Given the description of an element on the screen output the (x, y) to click on. 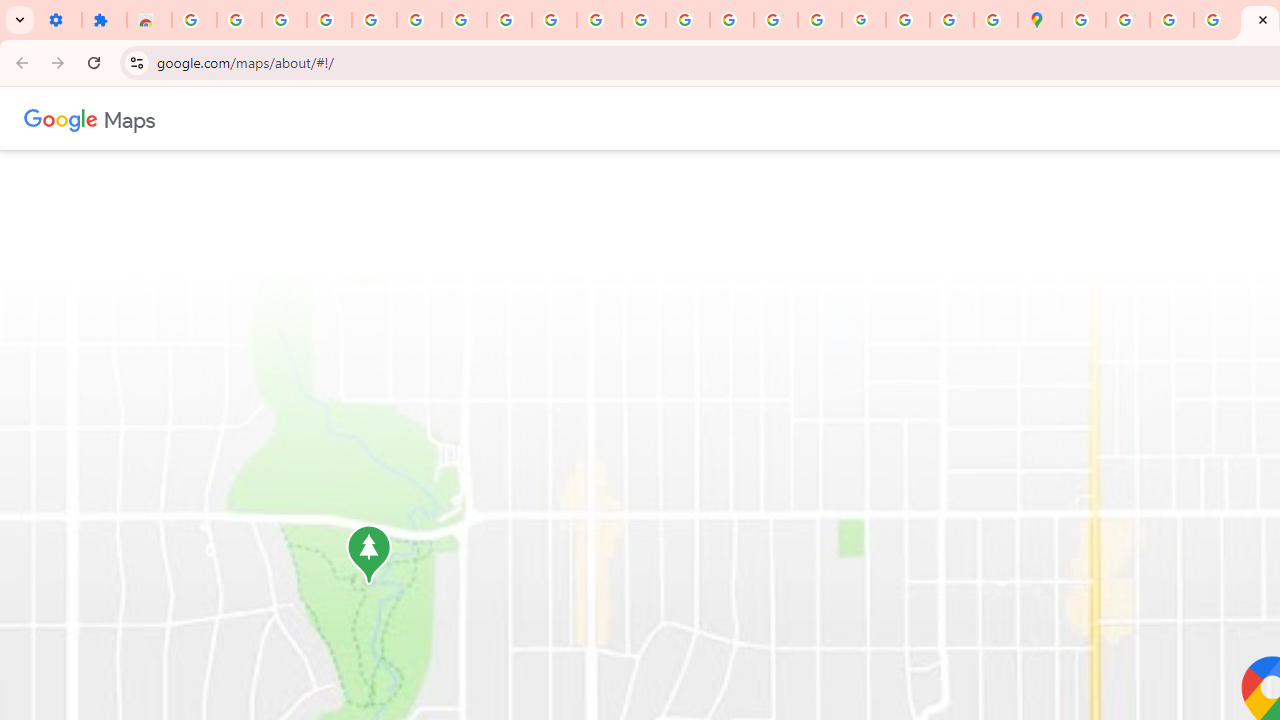
Extensions (103, 20)
Google Maps (1039, 20)
Settings - On startup (59, 20)
Sign in - Google Accounts (194, 20)
Learn how to find your photos - Google Photos Help (284, 20)
Create your Google Account (1171, 20)
